Given the description of an element on the screen output the (x, y) to click on. 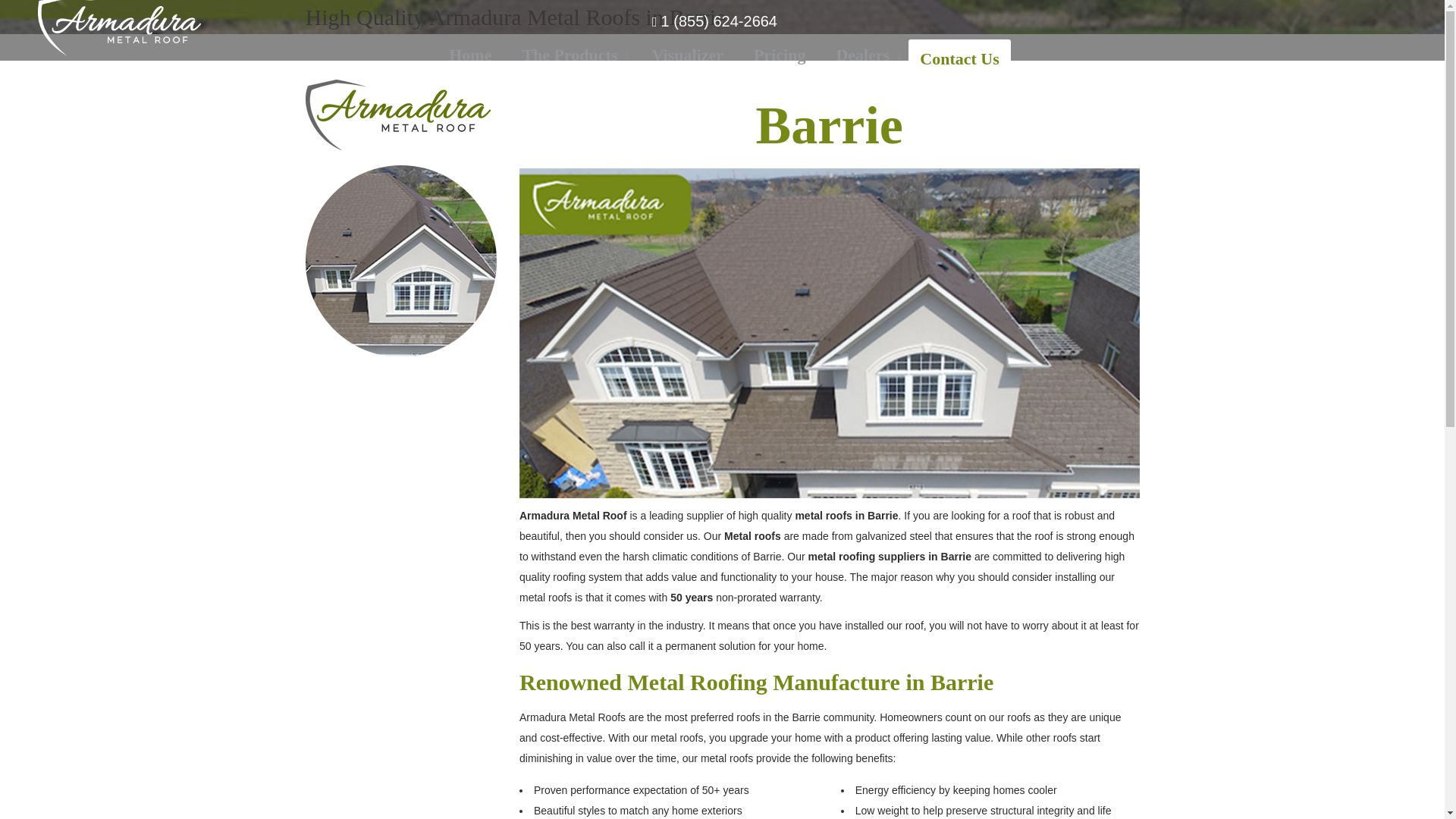
Contact Us (959, 58)
Pricing (779, 54)
Dealers (721, 54)
amr-shield-logo-3-trans (864, 54)
barrie-circle (396, 114)
Visualizer (400, 261)
The Products (688, 54)
Home (571, 54)
